Given the description of an element on the screen output the (x, y) to click on. 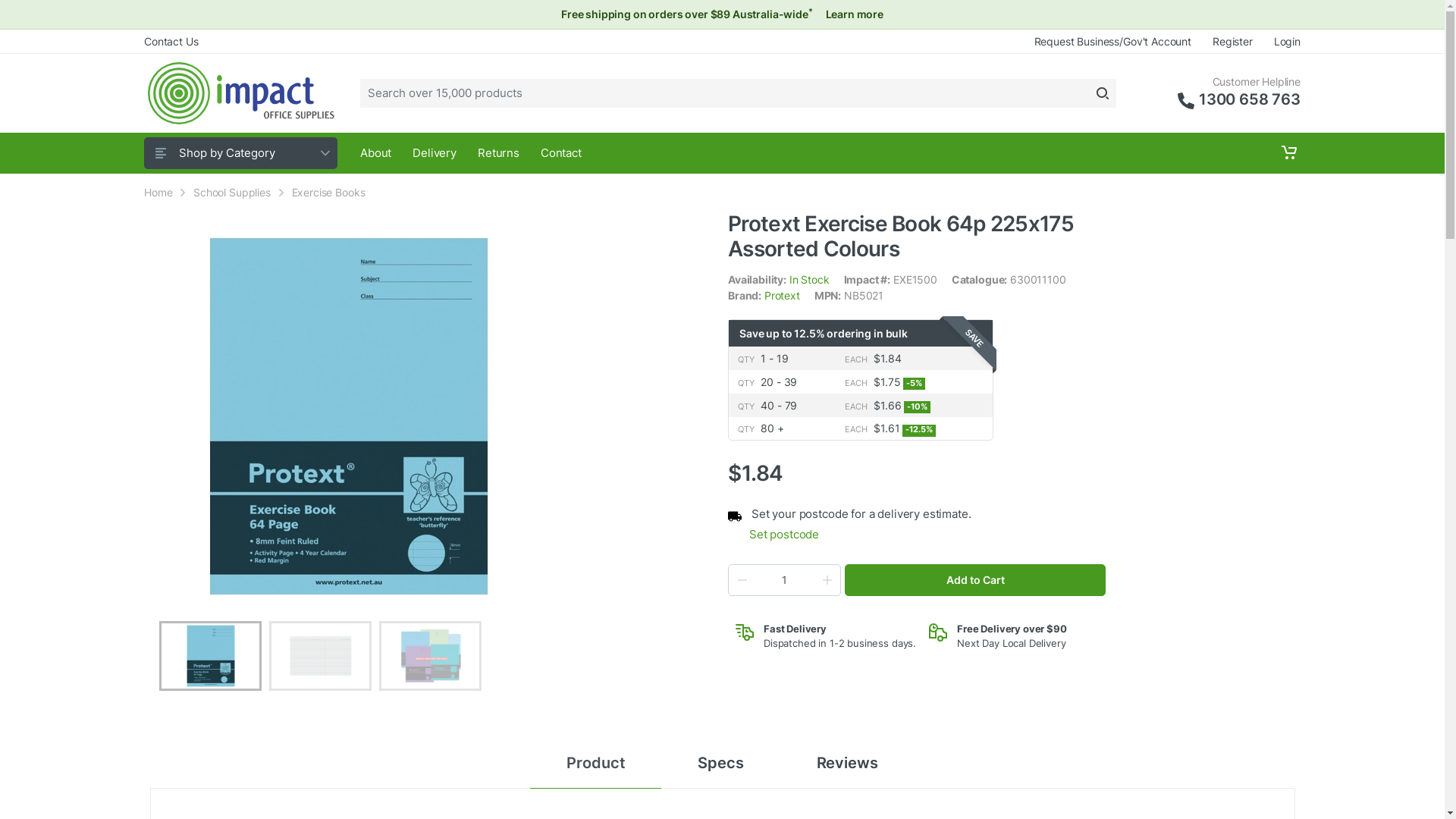
About Element type: text (375, 153)
Register Element type: text (1232, 41)
Reviews Element type: text (847, 762)
Set postcode Element type: text (927, 534)
Protext Exercise Book 64p 225x175 Assorted Colours Element type: text (900, 236)
Request Business/Gov't Account Element type: text (1112, 41)
Login Element type: text (1281, 41)
Free shipping on orders over $89 Australia-wide* Learn more Element type: text (722, 13)
Delivery Element type: text (434, 153)
Specs Element type: text (720, 762)
School Supplies Element type: text (231, 192)
Exercise Books Element type: text (328, 192)
Impact Element type: hover (240, 93)
Contact Element type: text (561, 153)
Add to Cart Element type: text (974, 580)
In Stock Element type: text (809, 279)
Contact Us Element type: text (176, 41)
Home Element type: text (158, 192)
Protext Element type: text (782, 294)
Returns Element type: text (498, 153)
Product Element type: text (595, 762)
Shop by Category Element type: text (240, 153)
